Given the description of an element on the screen output the (x, y) to click on. 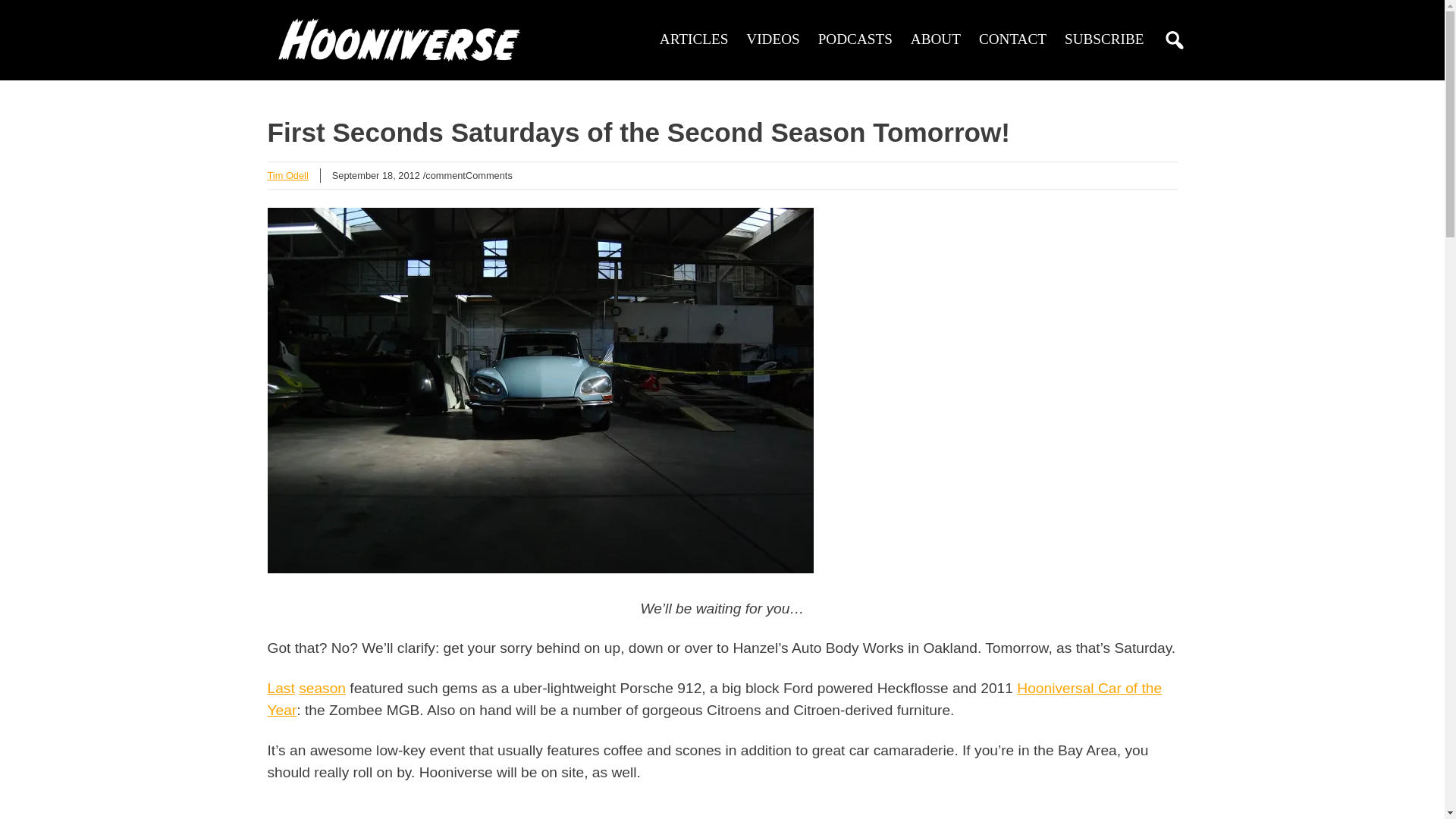
season (322, 688)
Hooniversal Car of the Year (713, 699)
VIDEOS (772, 39)
SUBSCRIBE (1104, 39)
ARTICLES (694, 39)
Tim Odell (286, 174)
hooniverse car of the year (713, 699)
PODCASTS (855, 39)
Last (280, 688)
seconds saturdays hanzels (280, 688)
seconds saturdays hanzel (322, 688)
CONTACT (1012, 39)
ABOUT (935, 39)
